Given the description of an element on the screen output the (x, y) to click on. 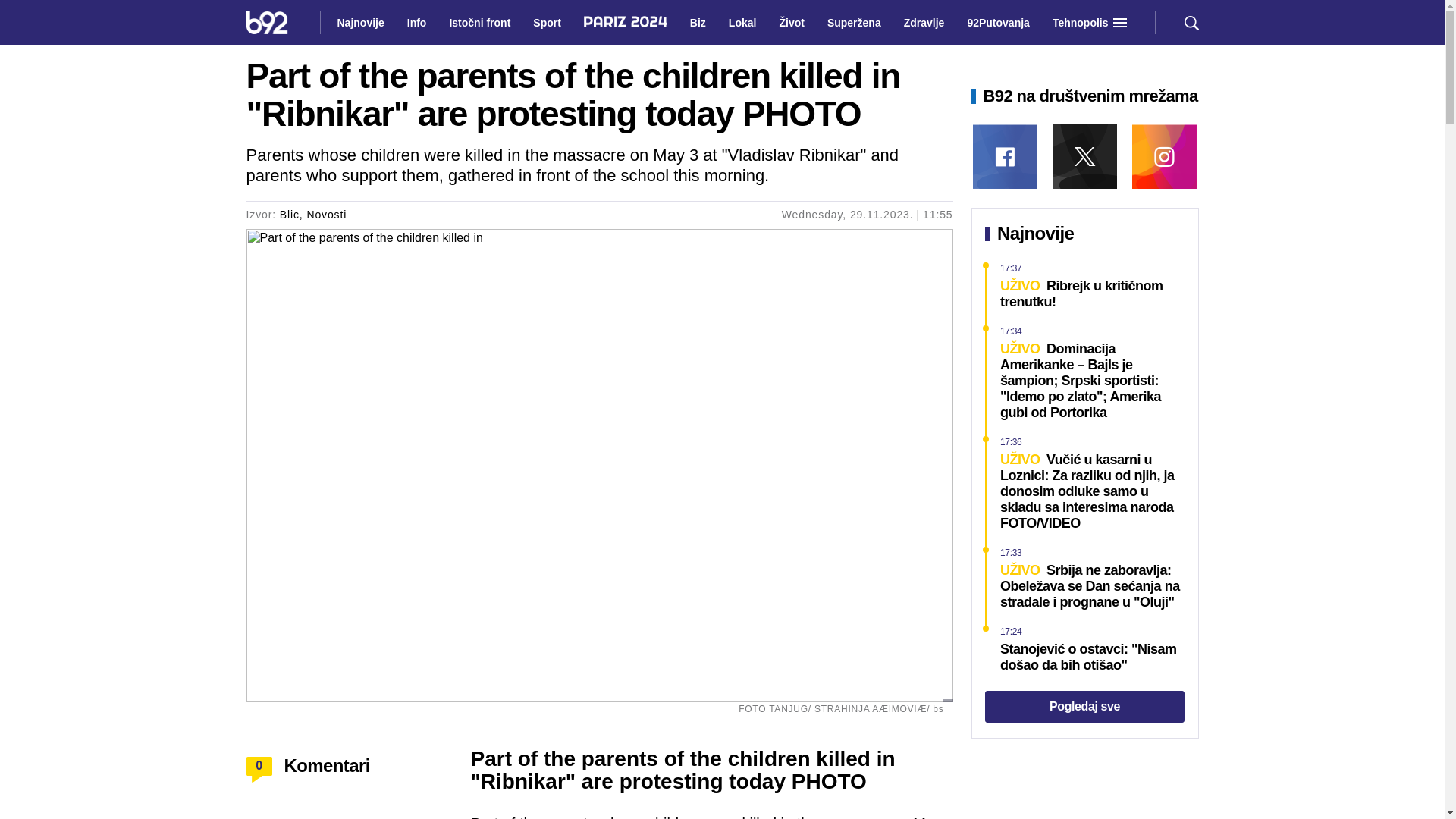
Najnovije (360, 22)
Lokal (742, 22)
Zdravlje (924, 22)
92Putovanja (997, 22)
Tehnopolis (1080, 22)
Sport (547, 22)
